Given the description of an element on the screen output the (x, y) to click on. 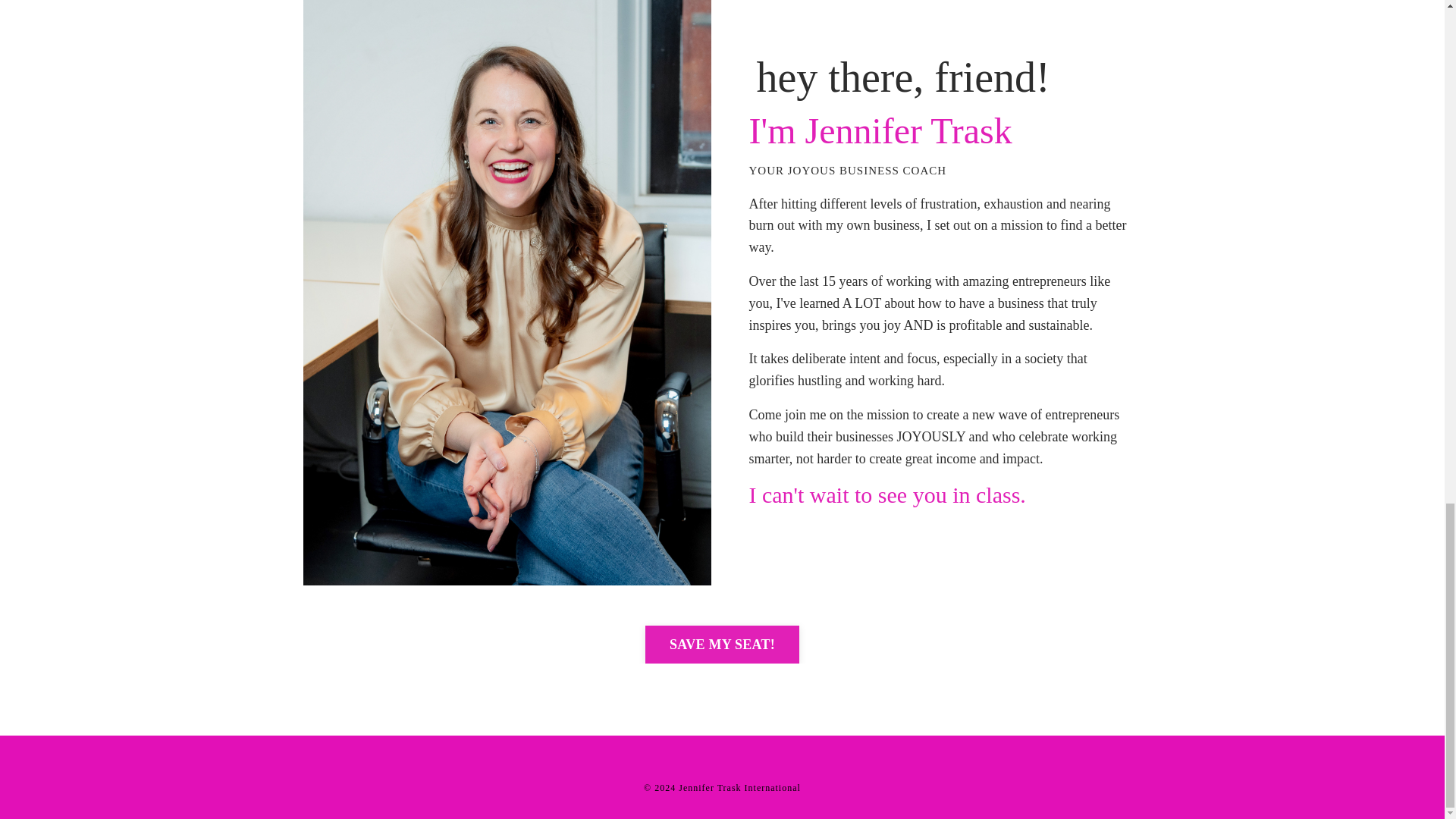
SAVE MY SEAT! (722, 644)
